Given the description of an element on the screen output the (x, y) to click on. 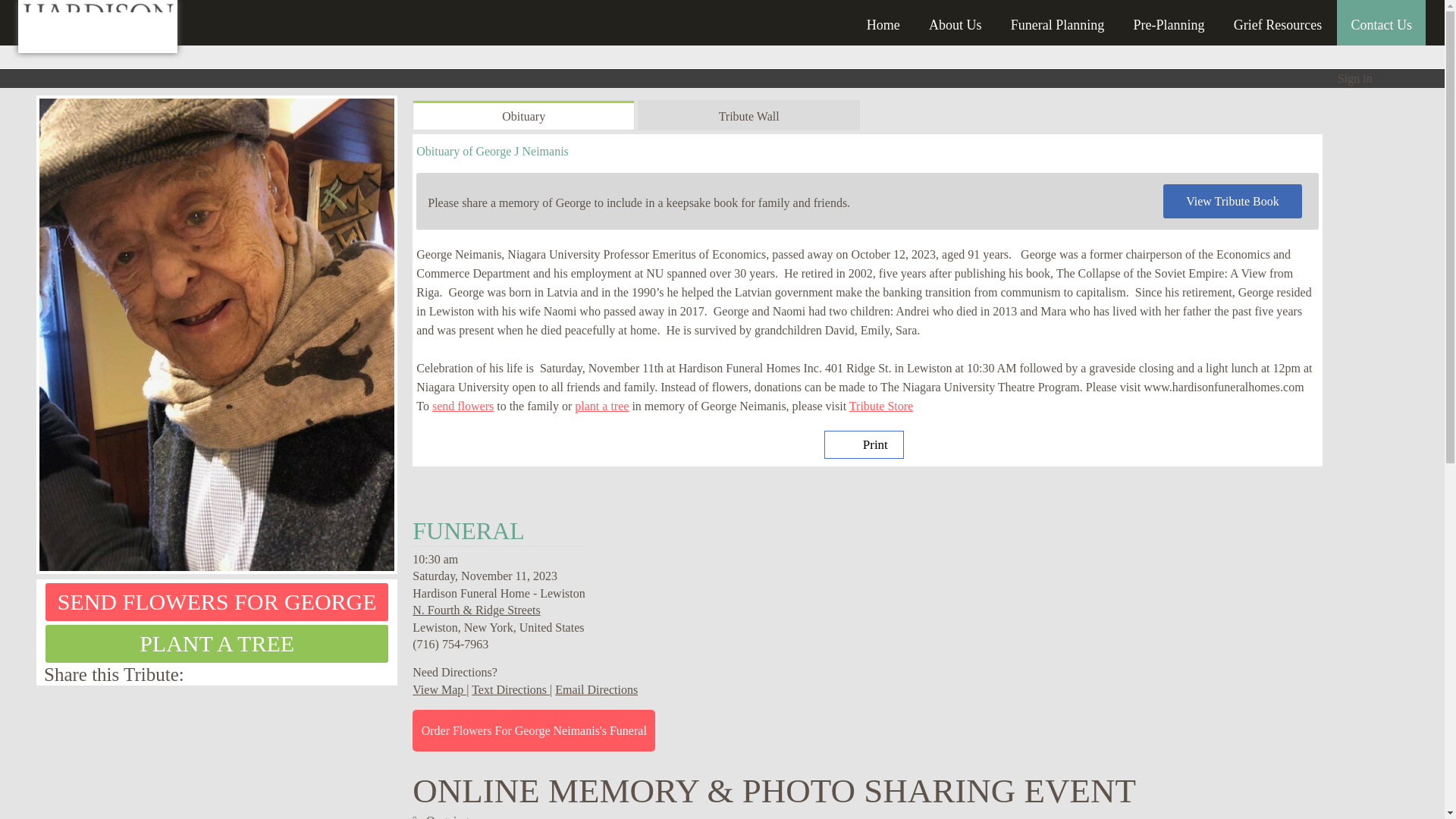
Receive Notifications (348, 673)
Sign in (1355, 78)
SEND FLOWERS FOR GEORGE (216, 601)
Contact Us (1380, 20)
Grief Resources (1277, 20)
Twitter (367, 673)
Pre-Planning (1168, 20)
About Us (955, 20)
Plant A Tree (216, 643)
PLANT A TREE (216, 643)
Home (883, 20)
Facebook (385, 673)
Funeral Planning (1057, 20)
Print (864, 444)
